Given the description of an element on the screen output the (x, y) to click on. 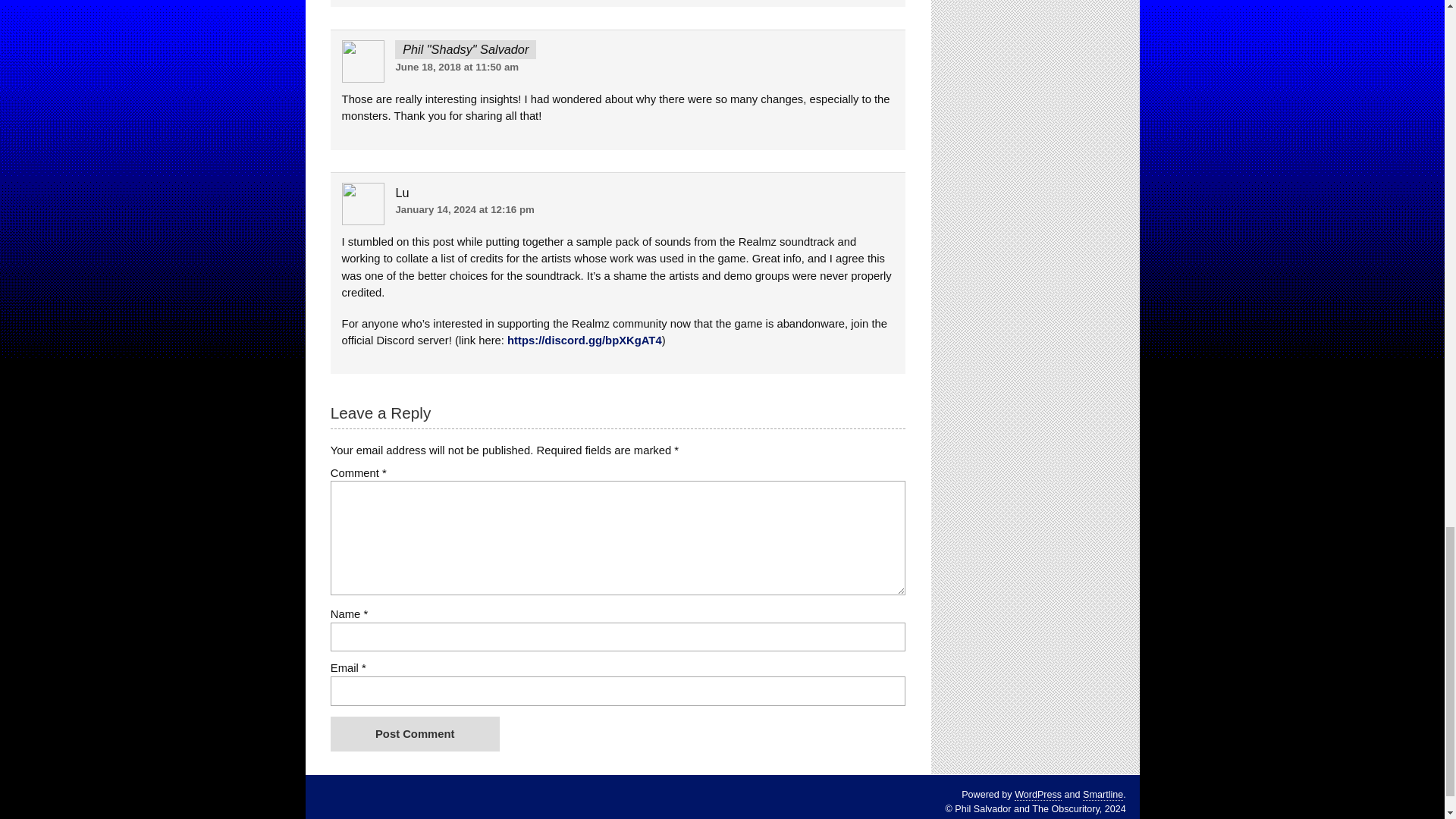
Post Comment (414, 733)
January 14, 2024 at 12:16 pm (464, 209)
June 18, 2018 at 11:50 am (456, 66)
Post Comment (414, 733)
